Given the description of an element on the screen output the (x, y) to click on. 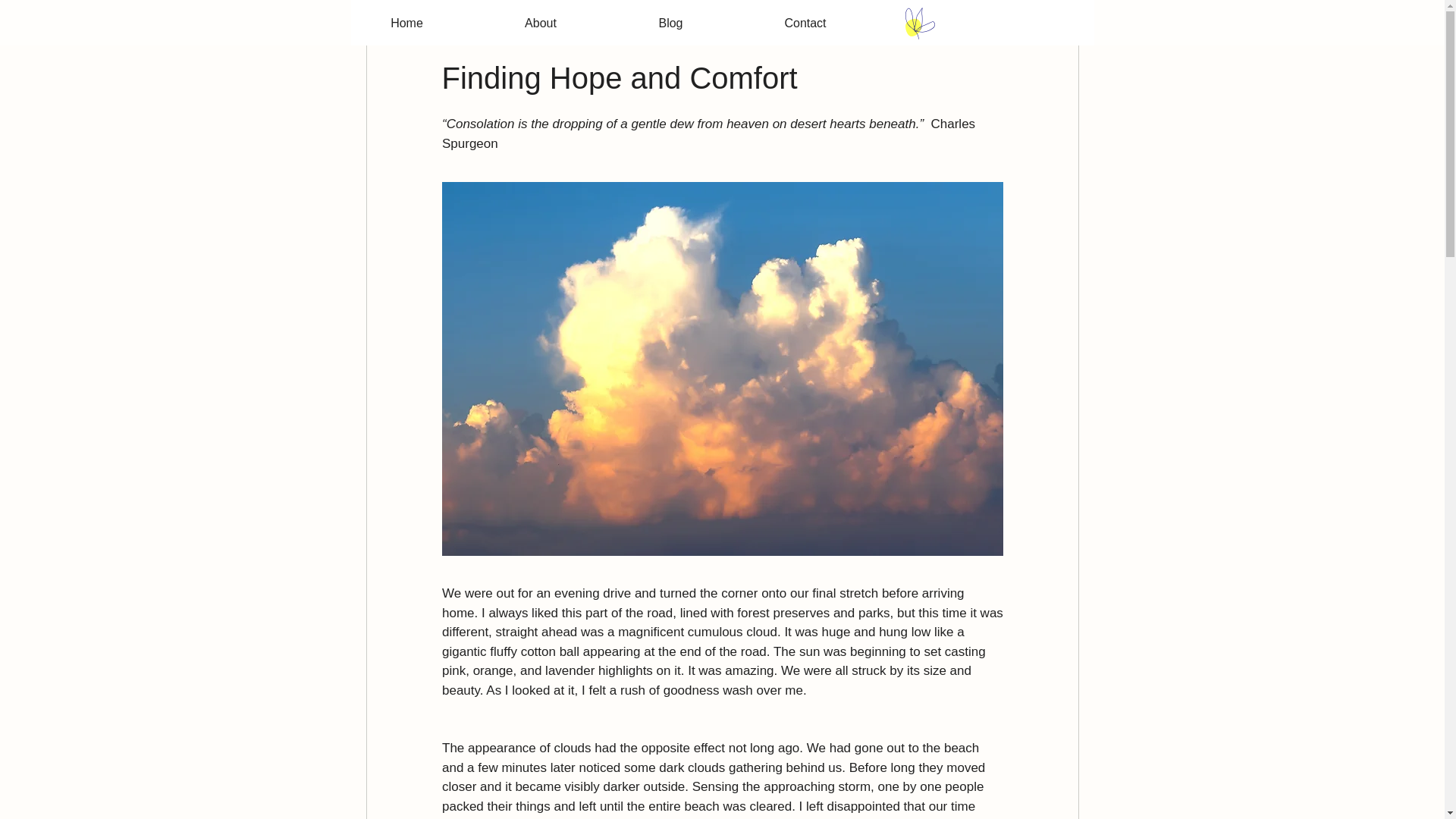
Contact (805, 23)
About (540, 23)
Home (406, 23)
Blog (670, 23)
